Given the description of an element on the screen output the (x, y) to click on. 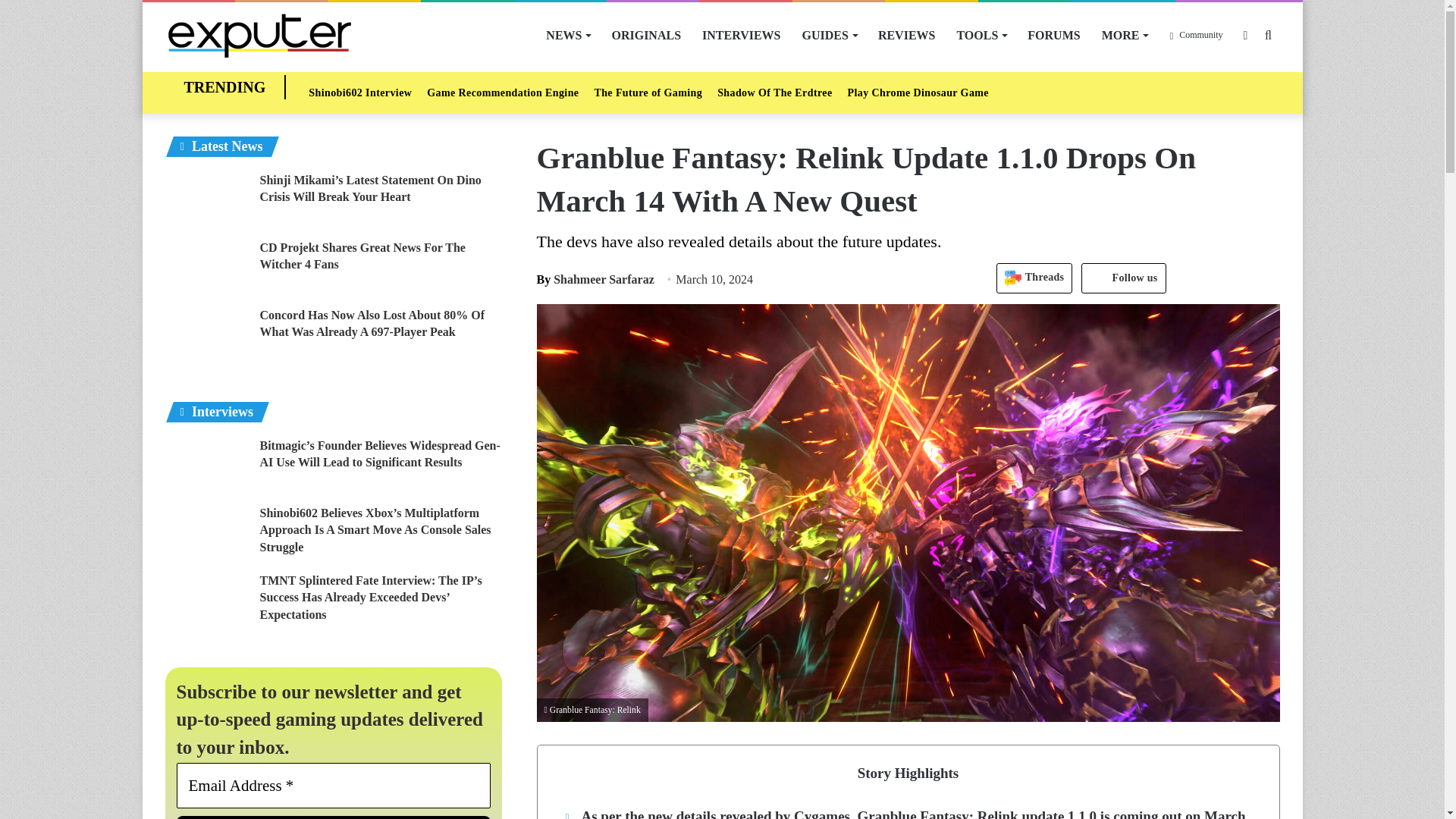
ORIGINALS (645, 35)
REVIEWS (906, 35)
Shahmeer Sarfaraz (595, 278)
TOOLS (980, 35)
GUIDES (829, 35)
INTERVIEWS (740, 35)
NEWS (567, 35)
Email Address (333, 785)
MORE (1124, 35)
